Given the description of an element on the screen output the (x, y) to click on. 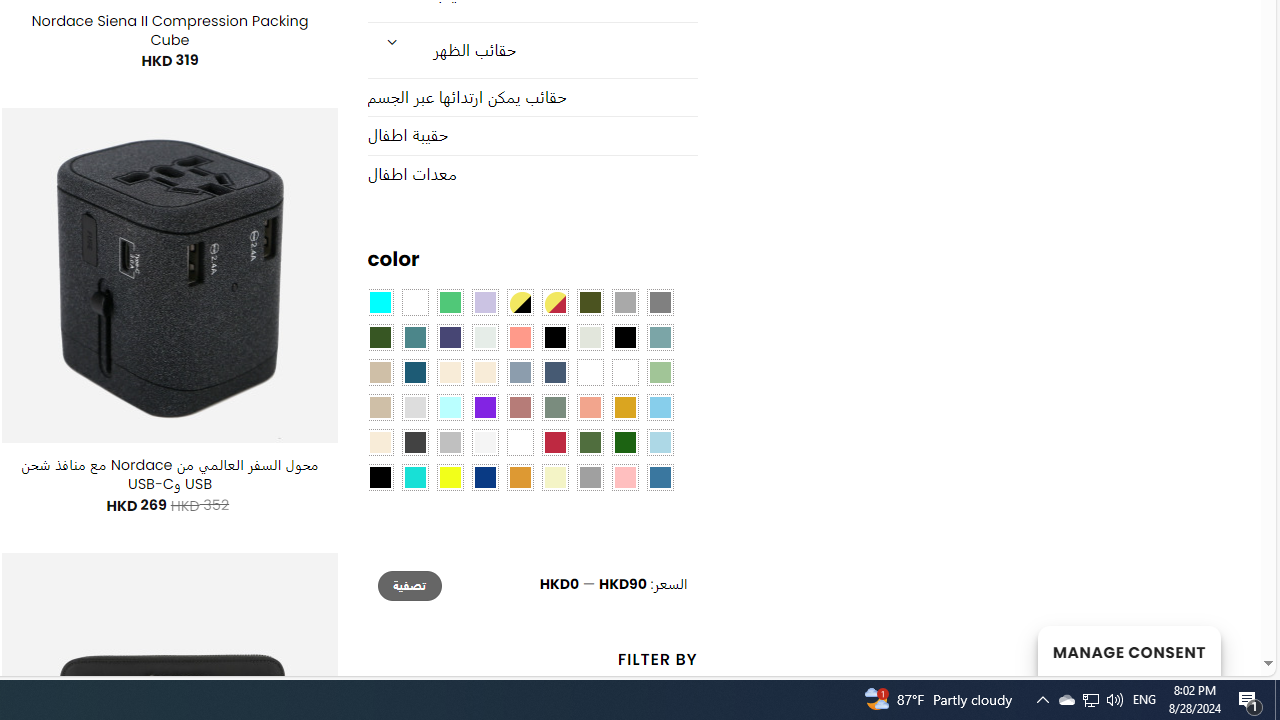
Light Purple (484, 303)
Yellow-Black (519, 303)
Blue Sage (659, 337)
Clear (414, 303)
Light-Gray (414, 408)
Dusty Blue (519, 372)
